Given the description of an element on the screen output the (x, y) to click on. 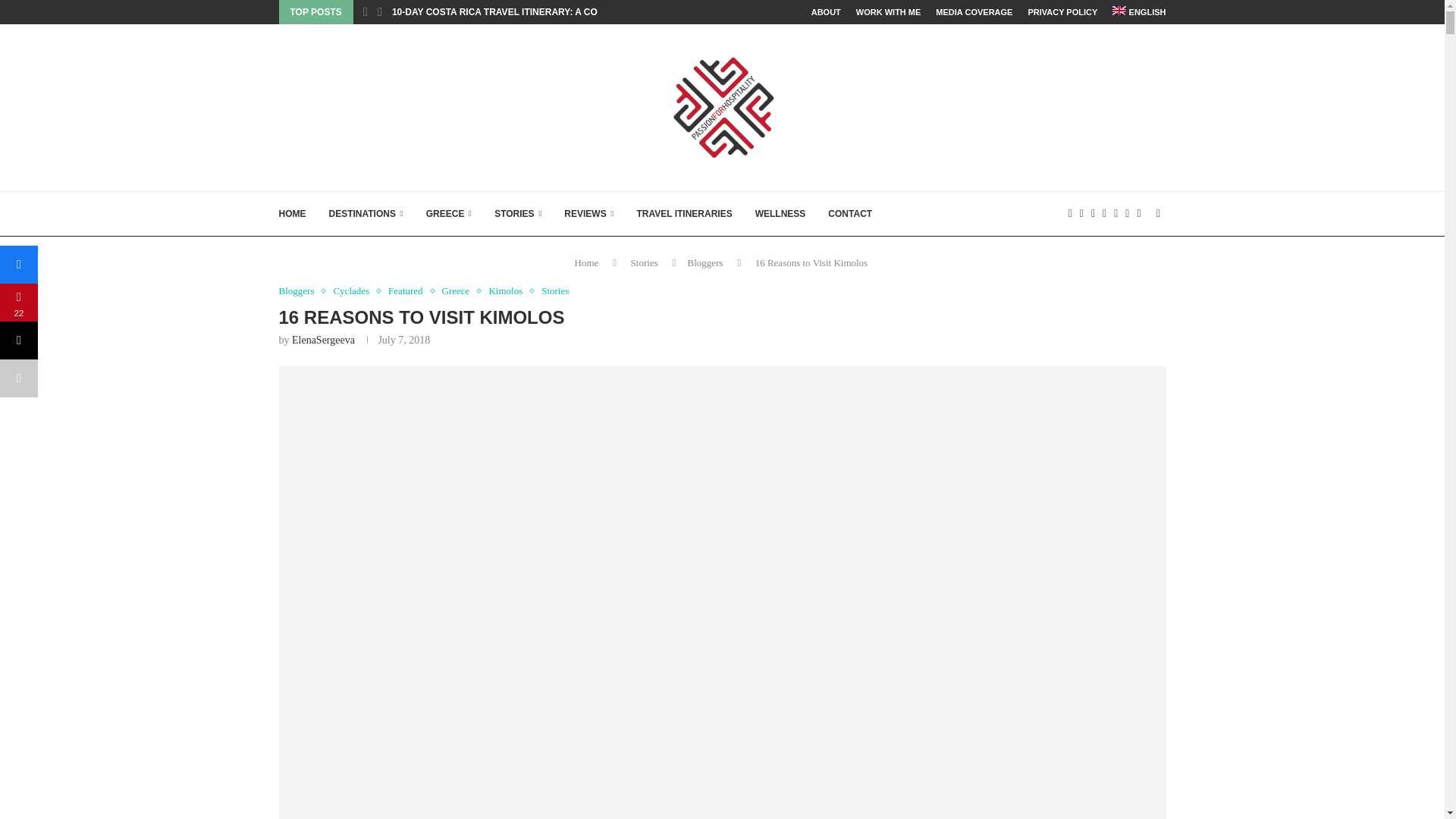
MEDIA COVERAGE (973, 12)
ENGLISH (1139, 12)
10-DAY COSTA RICA TRAVEL ITINERARY: A COMPLETE GUIDE (528, 12)
PRIVACY POLICY (1062, 12)
WORK WITH ME (888, 12)
ABOUT (825, 12)
English (1139, 12)
DESTINATIONS (366, 213)
